Given the description of an element on the screen output the (x, y) to click on. 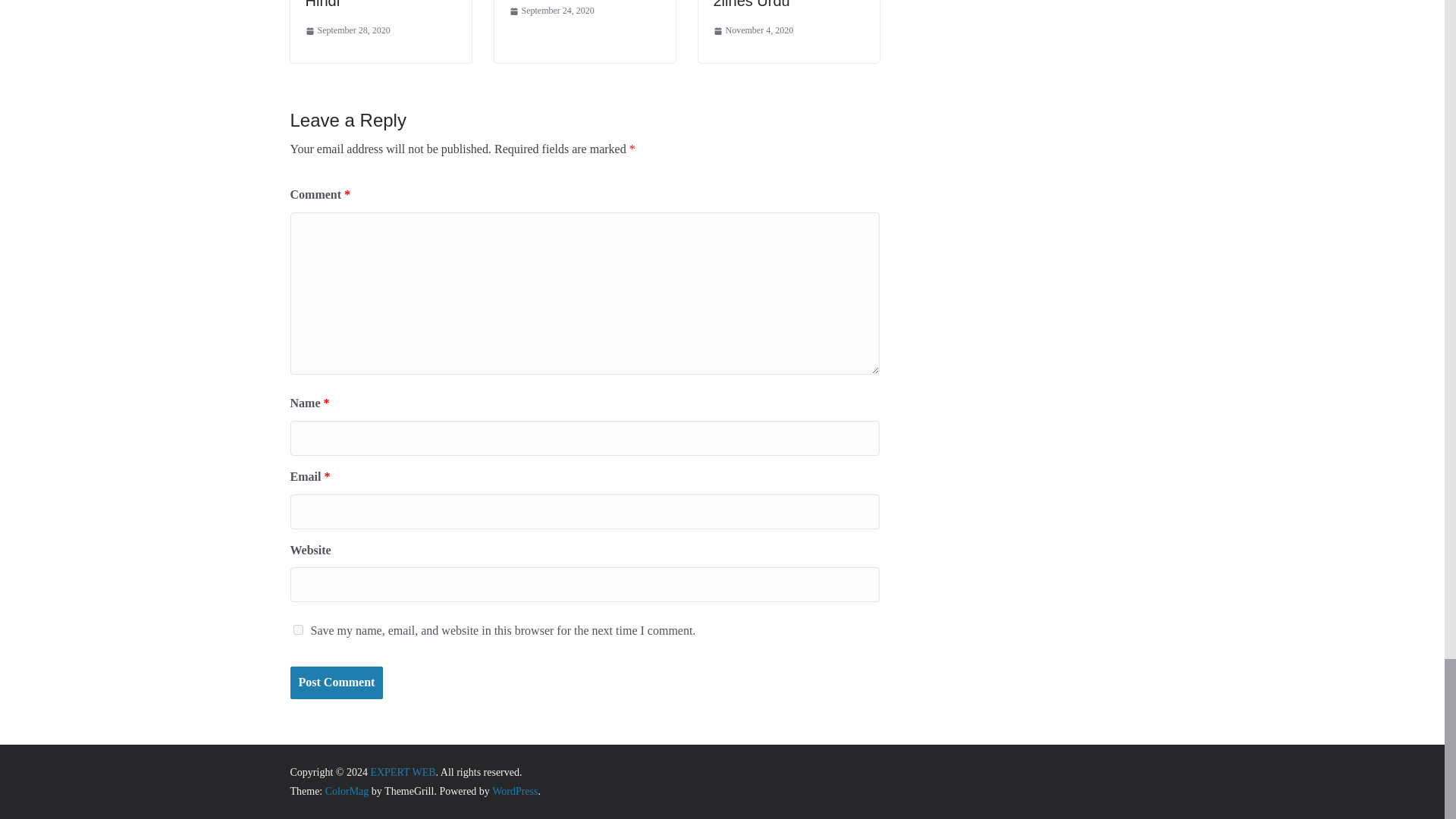
Post Comment (335, 682)
yes (297, 629)
